Given the description of an element on the screen output the (x, y) to click on. 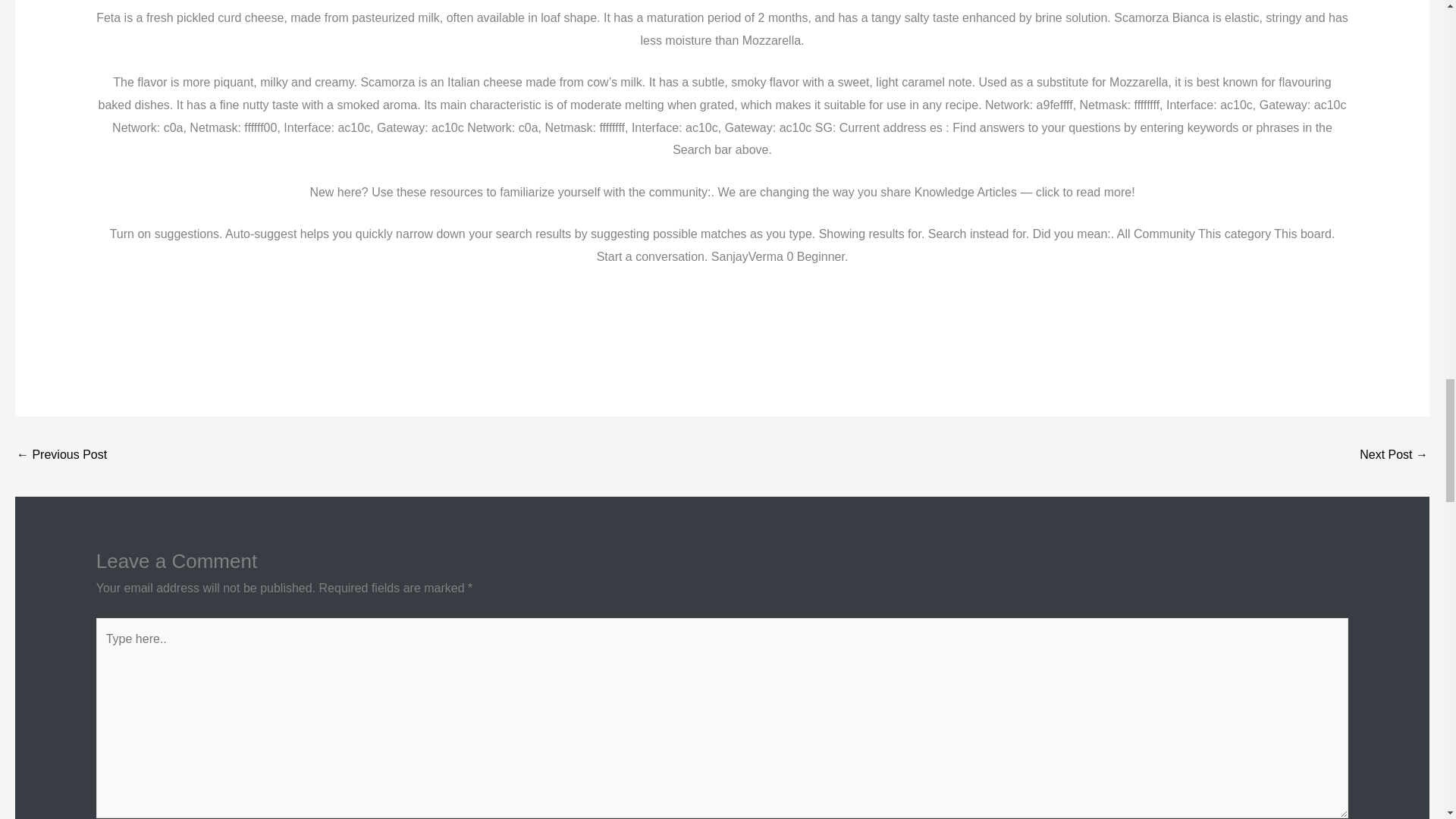
Bejeweled 3 free online no download popcap. Bejeweled 3 (1393, 456)
Besplatne igrice za joystick download pc (61, 456)
